Given the description of an element on the screen output the (x, y) to click on. 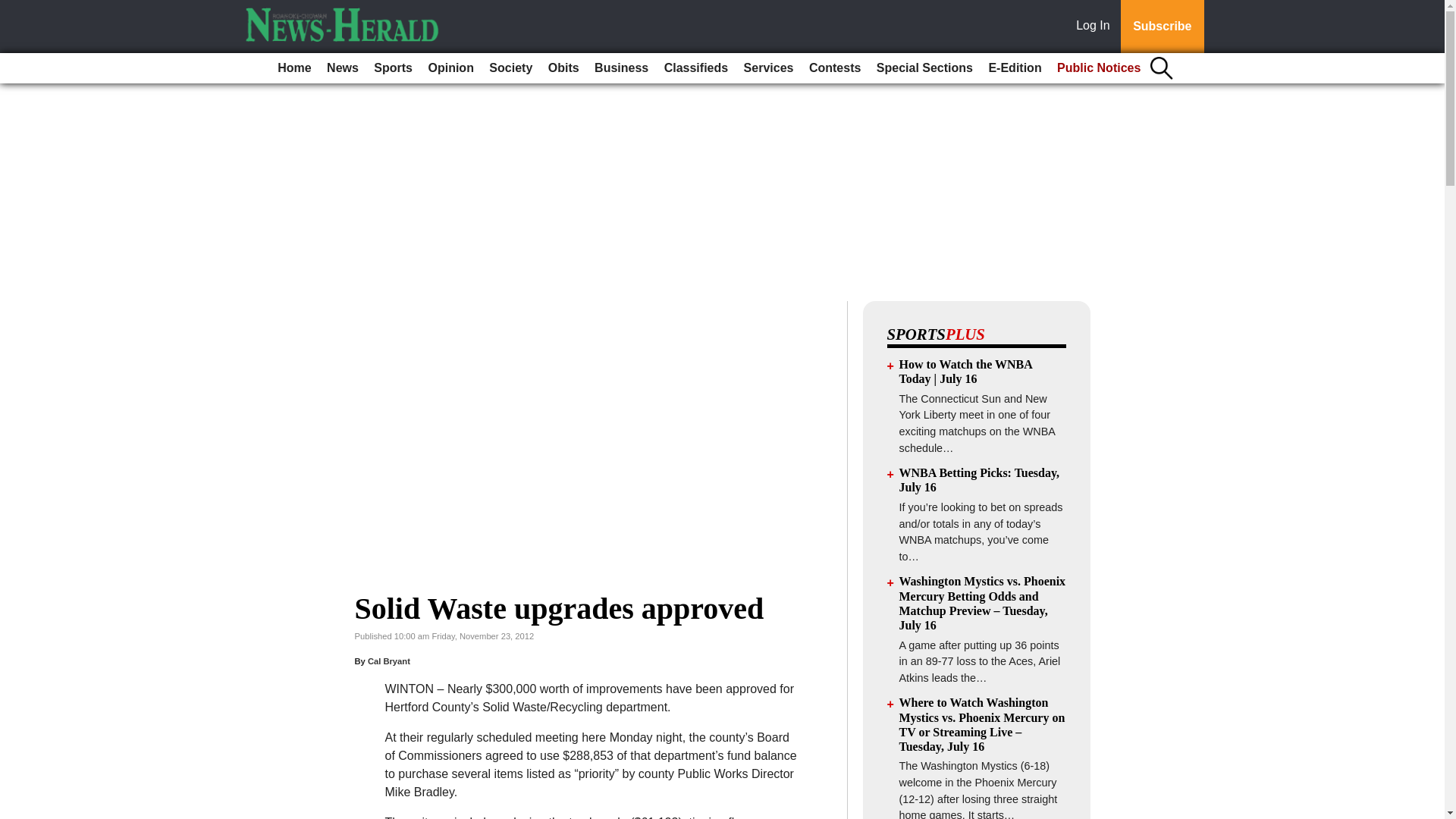
E-Edition (1013, 68)
Log In (1095, 26)
Special Sections (924, 68)
Home (293, 68)
Classifieds (695, 68)
Public Notices (1099, 68)
Contests (834, 68)
Business (620, 68)
Services (768, 68)
Society (510, 68)
Go (13, 9)
Sports (393, 68)
Subscribe (1162, 26)
Obits (563, 68)
News (342, 68)
